Given the description of an element on the screen output the (x, y) to click on. 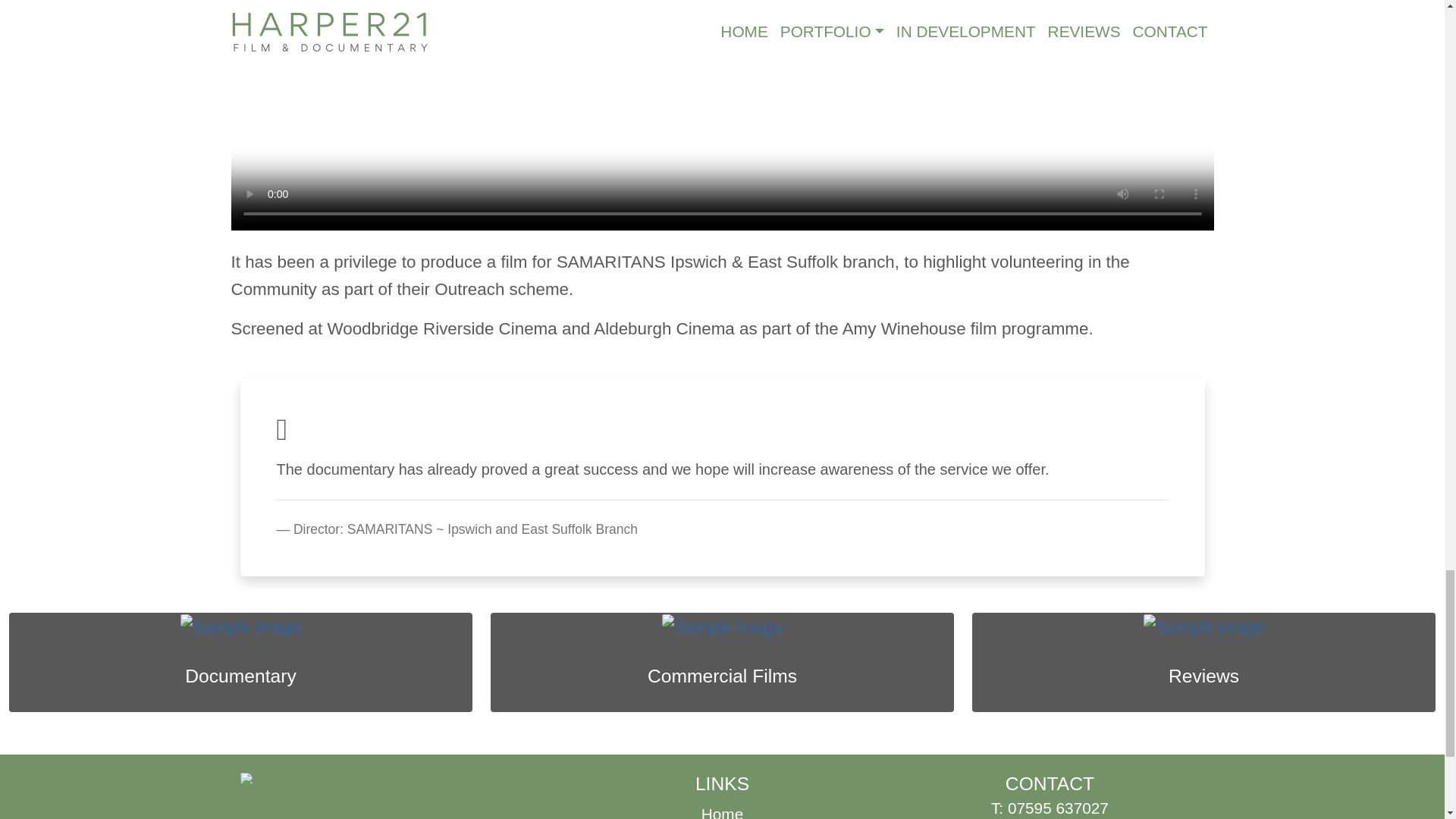
Reviews (1204, 675)
T: 07595 637027 (1049, 807)
Documentary (239, 675)
Home (721, 812)
Commercial Films (721, 675)
